Given the description of an element on the screen output the (x, y) to click on. 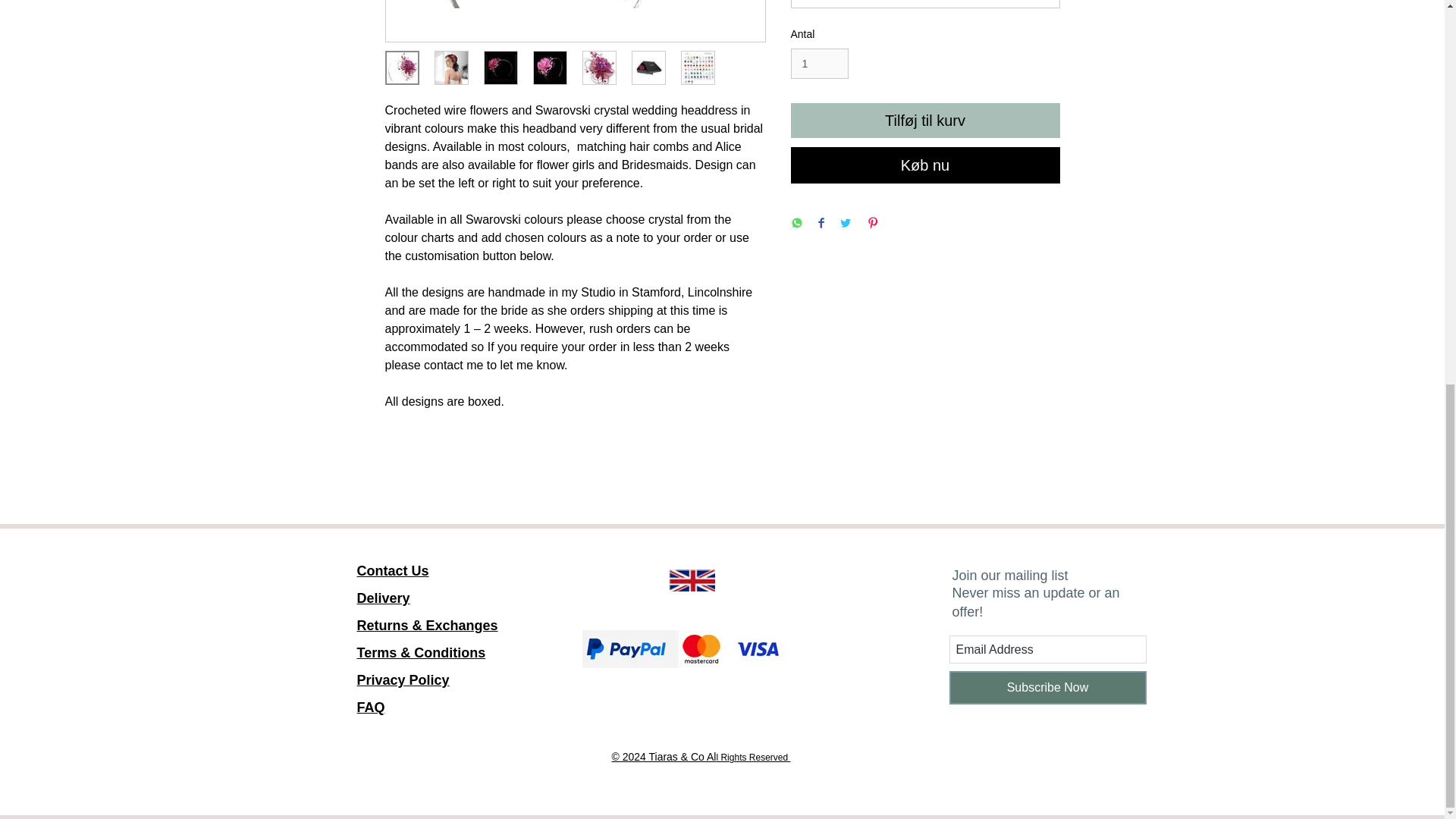
Contact Us (392, 570)
1 (402, 693)
F (818, 63)
Subscribe Now (691, 580)
Delivery (1048, 687)
